Given the description of an element on the screen output the (x, y) to click on. 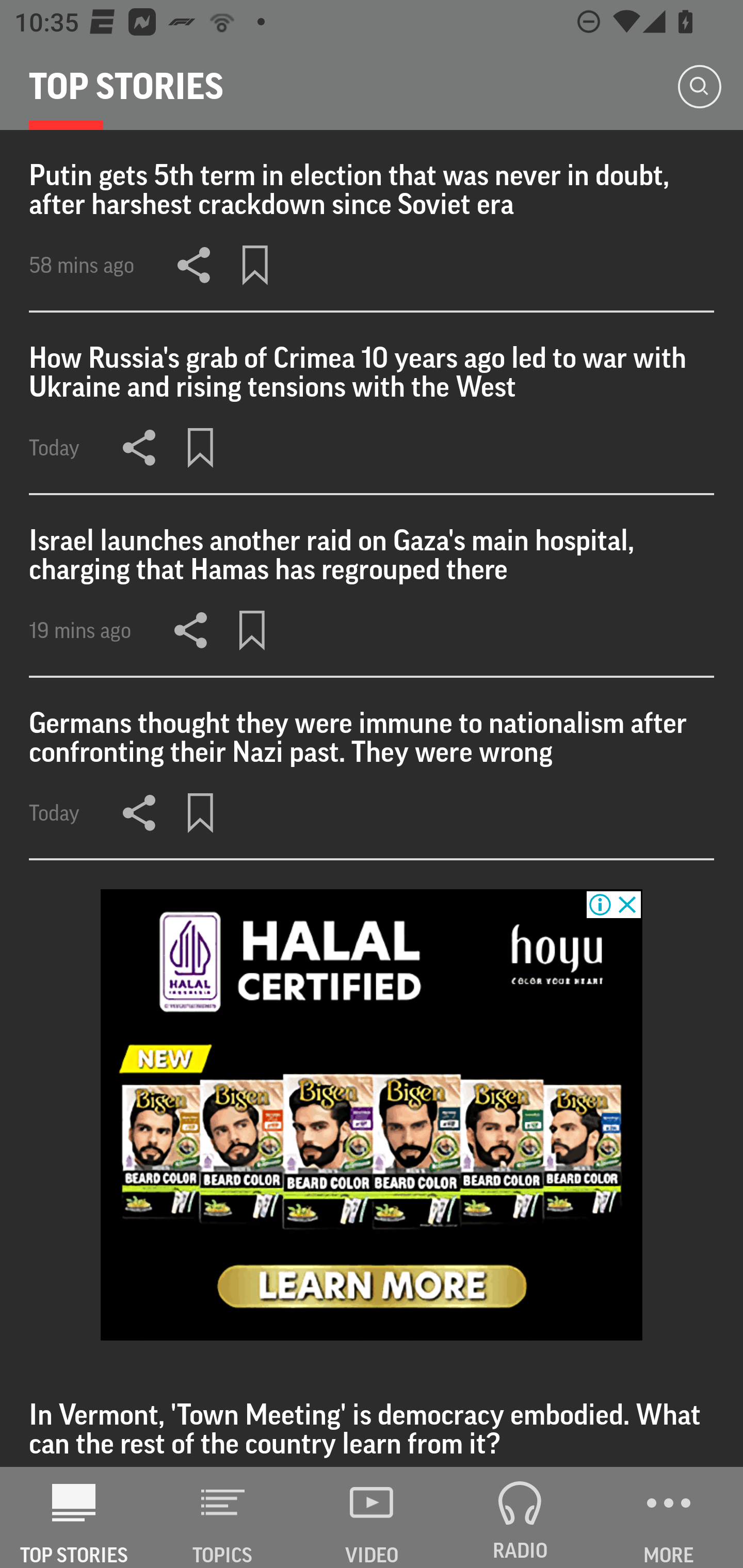
28 (371, 1114)
AP News TOP STORIES (74, 1517)
TOPICS (222, 1517)
VIDEO (371, 1517)
RADIO (519, 1517)
MORE (668, 1517)
